Given the description of an element on the screen output the (x, y) to click on. 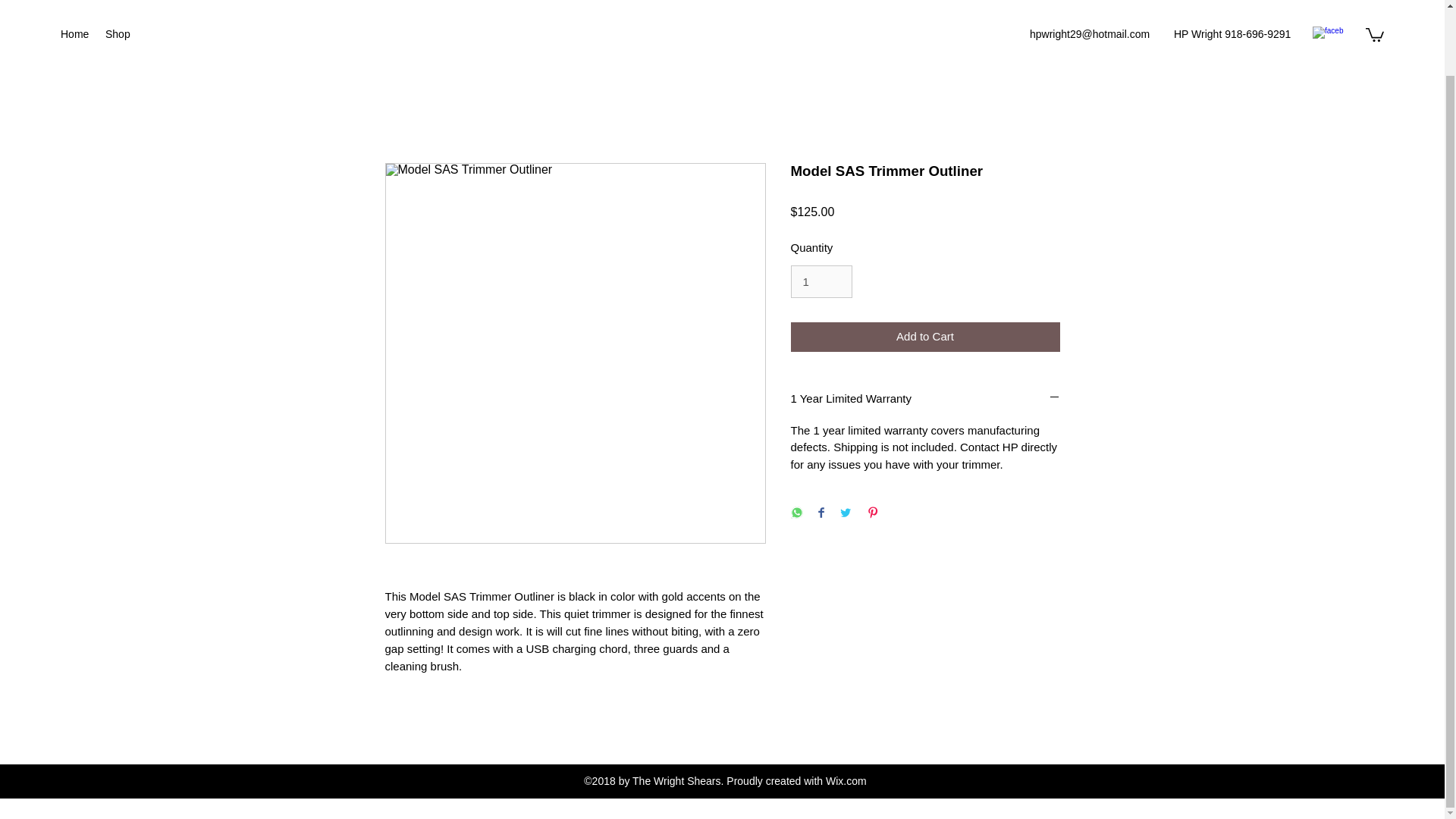
1 Year Limited Warranty (924, 398)
Add to Cart (924, 337)
1 (820, 281)
